Given the description of an element on the screen output the (x, y) to click on. 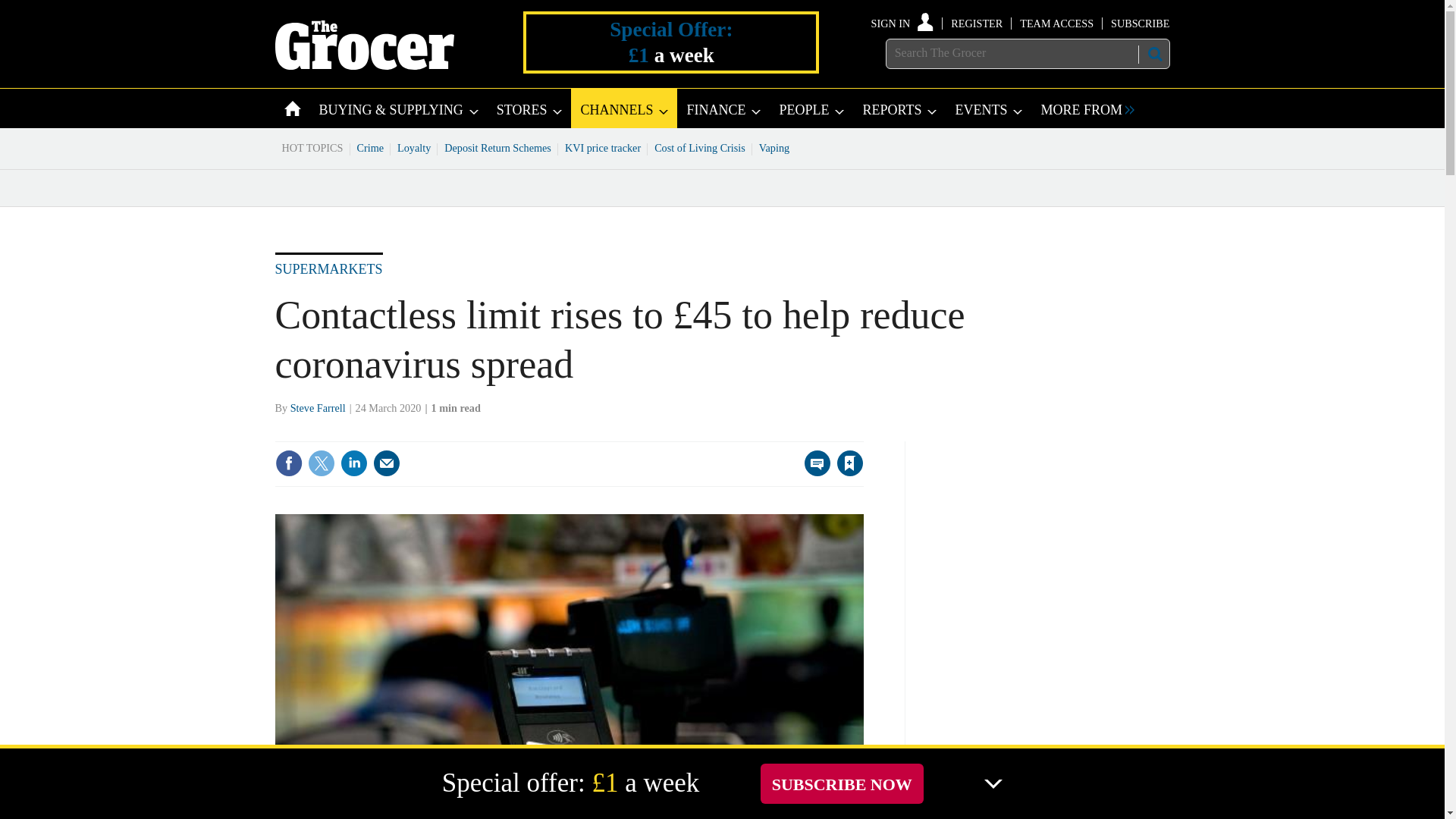
Share this on Linked in (352, 462)
TEAM ACCESS (1056, 23)
REGISTER (976, 23)
Loyalty (414, 147)
KVI price tracker (602, 147)
Vaping (774, 147)
Deposit Return Schemes (497, 147)
Share this on Facebook (288, 462)
SUBSCRIBE (1139, 23)
SIGN IN (902, 23)
Site name (363, 65)
Share this on Twitter (320, 462)
Cost of Living Crisis (699, 147)
No comments (812, 472)
SUBSCRIBE NOW (841, 783)
